Given the description of an element on the screen output the (x, y) to click on. 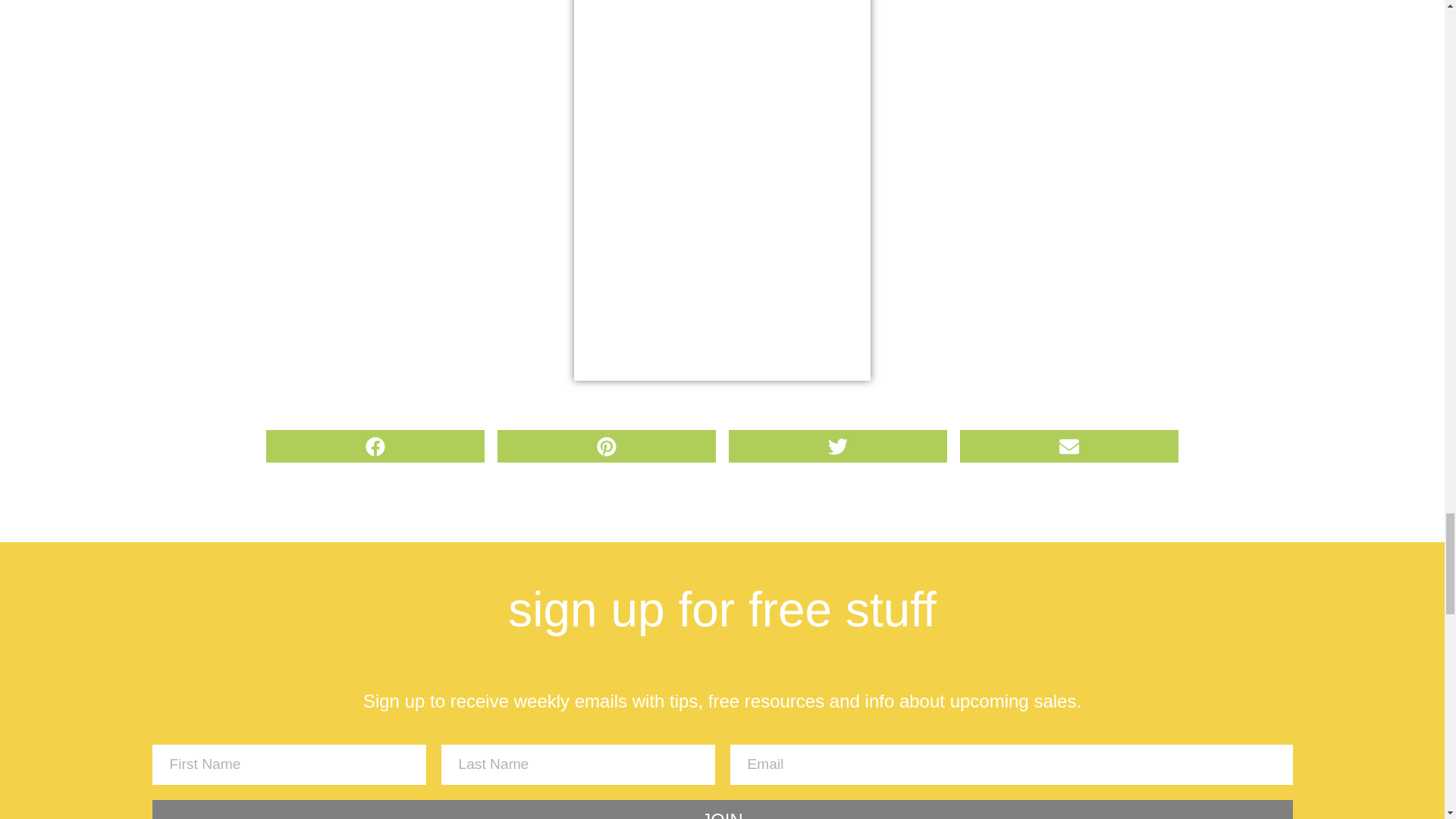
Easter Fluency Passages Blog Post (721, 190)
JOIN (721, 809)
